Given the description of an element on the screen output the (x, y) to click on. 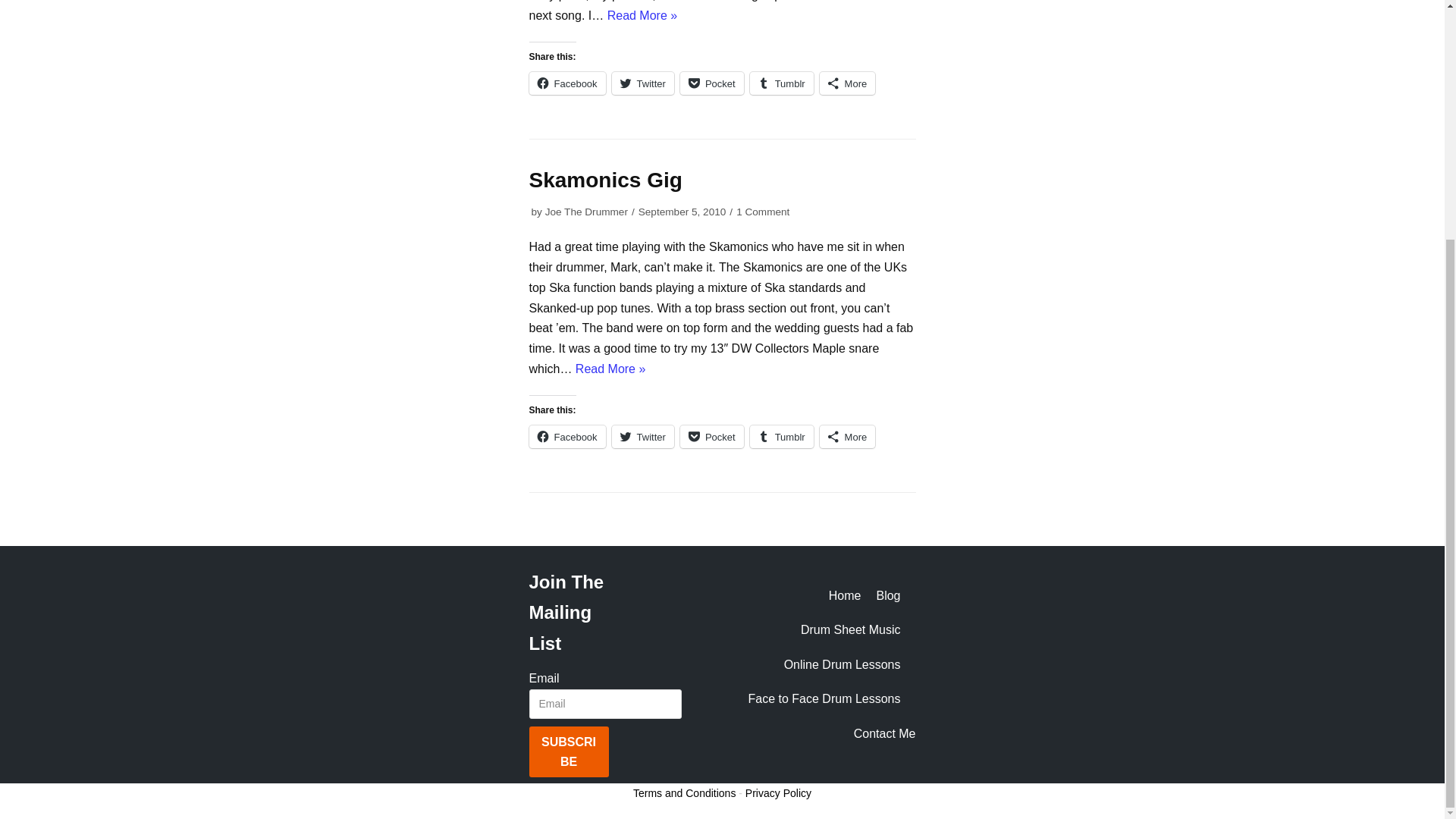
Click to share on Facebook (567, 436)
Click to share on Tumblr (781, 83)
1 Comment (762, 211)
Click to share on Tumblr (781, 436)
Tumblr (781, 83)
Click to share on Pocket (711, 83)
Facebook (567, 83)
Click to share on Pocket (711, 436)
Click to share on Twitter (642, 83)
Joe The Drummer (585, 211)
Click to share on Facebook (567, 83)
Posts by Joe The Drummer (585, 211)
More (847, 83)
Facebook (567, 436)
Click to share on Twitter (642, 436)
